Given the description of an element on the screen output the (x, y) to click on. 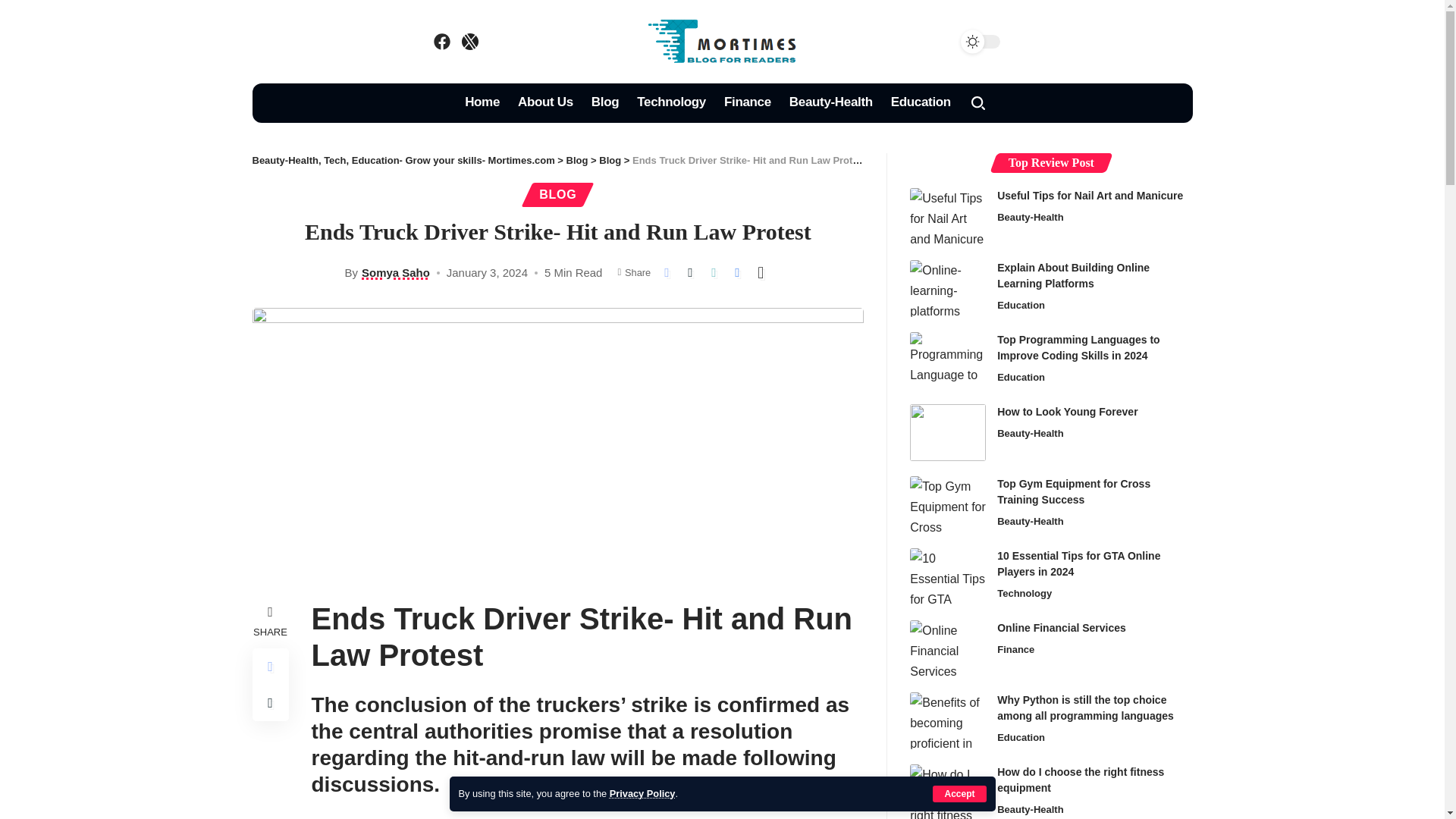
How do I choose the right fitness equipment (947, 791)
About Us (545, 102)
Top Programming Languages to Improve Coding Skills in 2024 (947, 360)
10 Essential Tips for GTA Online Players in 2024 (947, 576)
Useful Tips for Nail Art and Manicure (947, 216)
Online Financial Services (947, 648)
How to Look Young Forever (947, 432)
Top Gym Equipment for Cross Training Success (947, 504)
Explain About Building Online Learning Platforms (947, 288)
Finance (747, 102)
Technology (670, 102)
Go to Blog. (577, 160)
Home (481, 102)
